Given the description of an element on the screen output the (x, y) to click on. 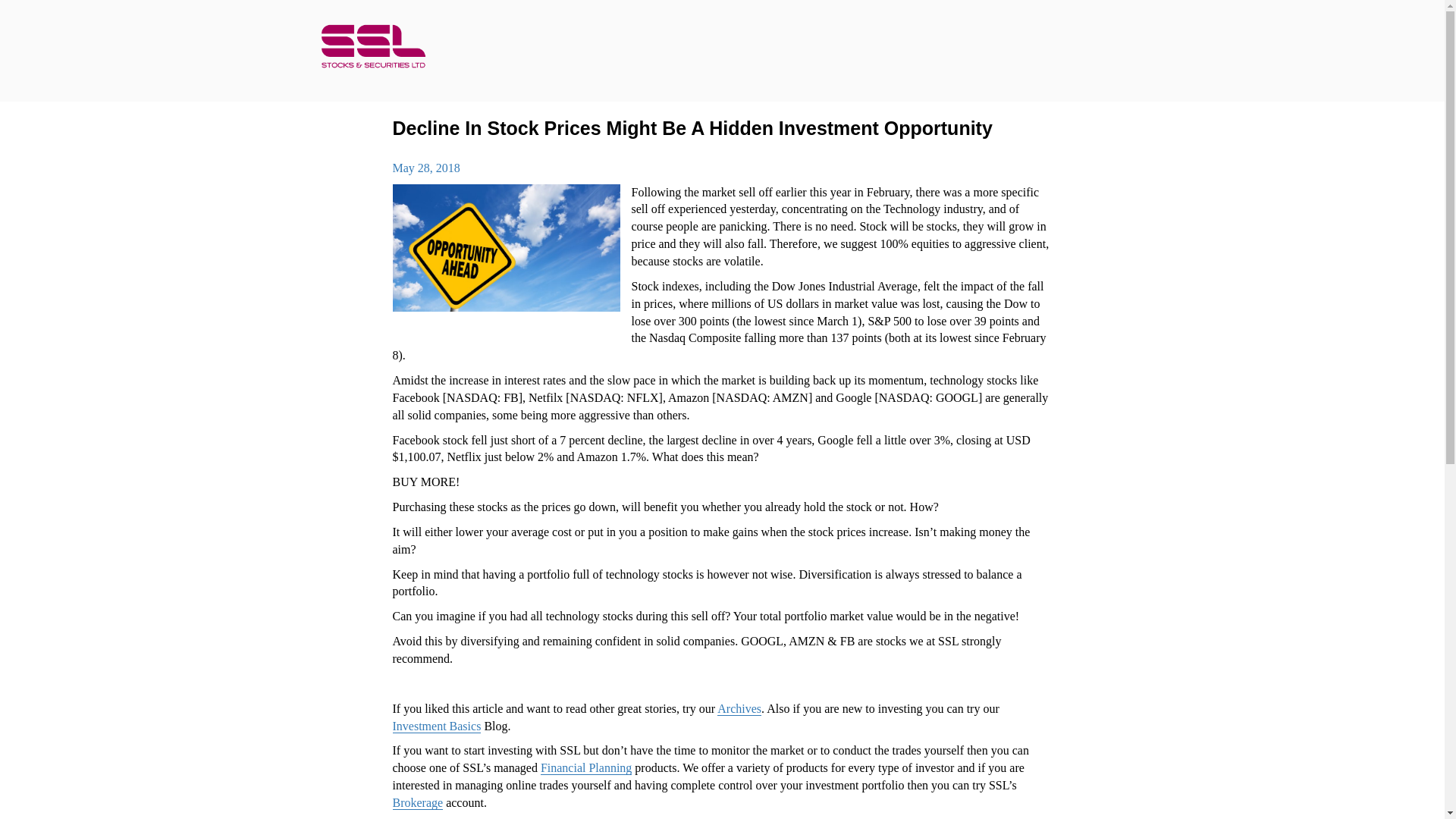
May 28, 2018 (426, 167)
Brokerage (418, 802)
Financial Planning (585, 767)
Investment Basics (437, 725)
Archives (739, 707)
